Given the description of an element on the screen output the (x, y) to click on. 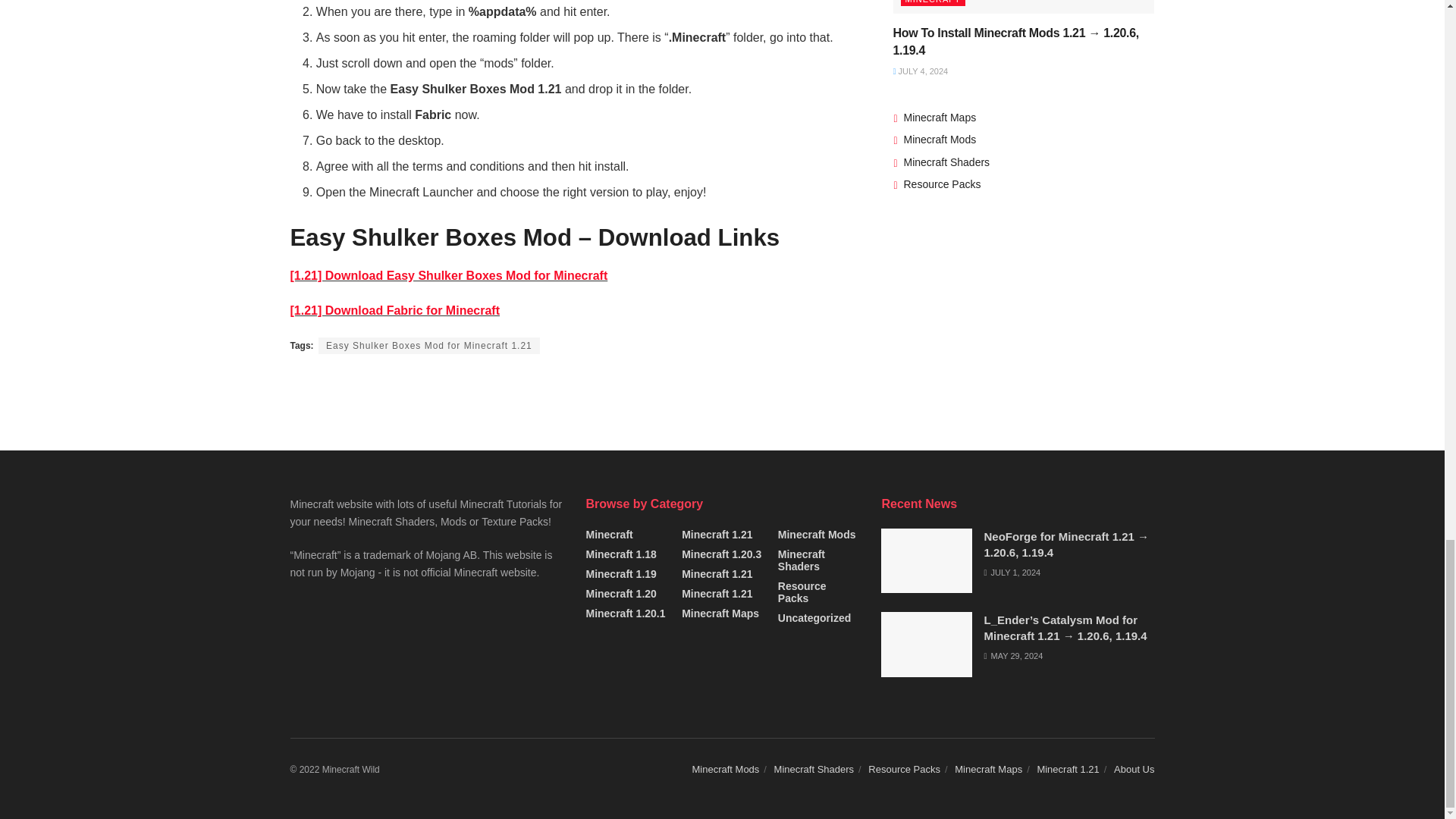
Easy Shulker Boxes Mod for Minecraft 1.21 (429, 345)
